Given the description of an element on the screen output the (x, y) to click on. 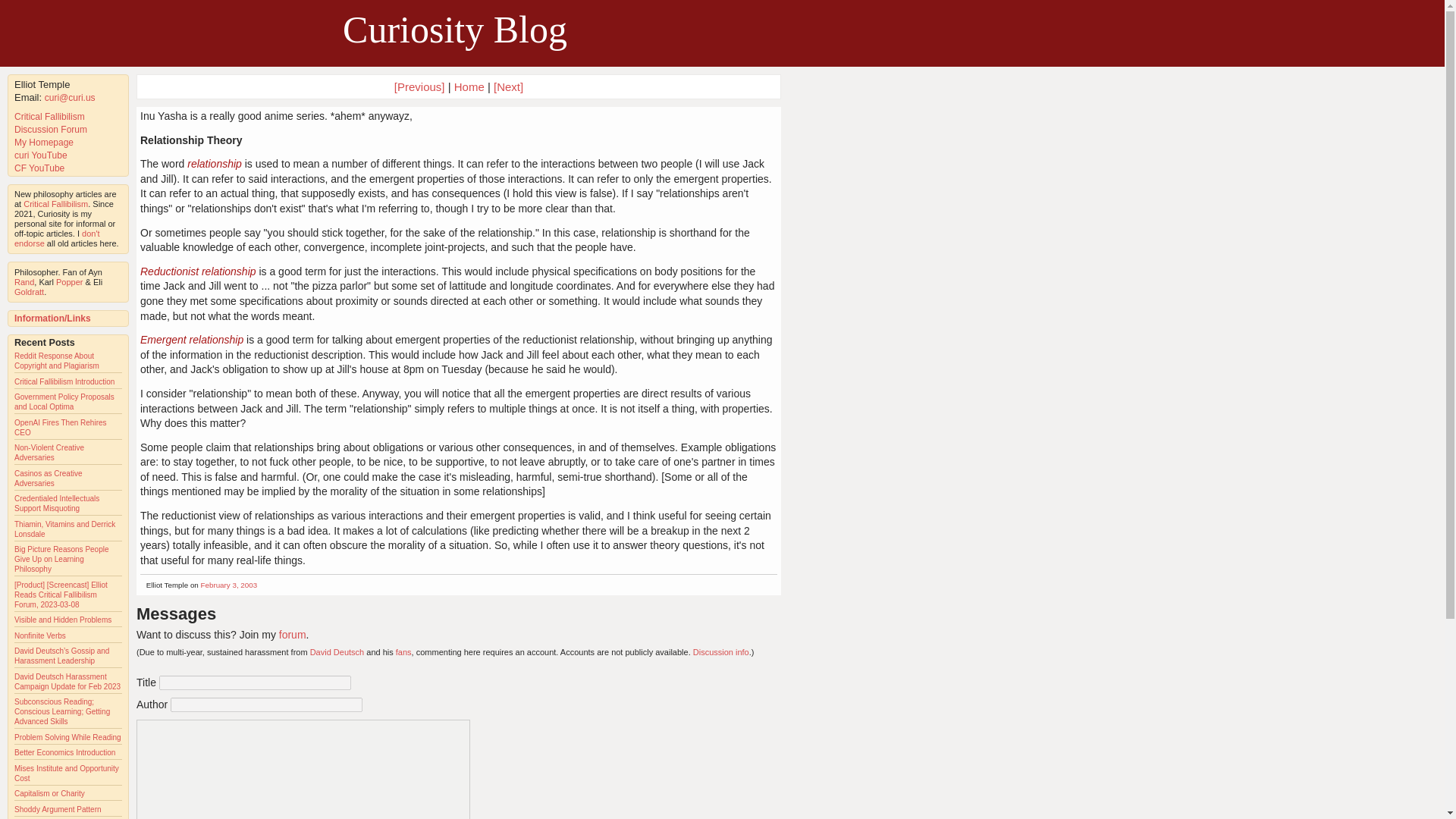
Discussion Forum (50, 129)
Government Policy Proposals and Local Optima (64, 402)
Better Economics Introduction (64, 752)
Thiamin, Vitamins and Derrick Lonsdale (64, 529)
Big Picture Reasons People Give Up on Learning Philosophy (61, 559)
Popper (69, 281)
Credentialed Intellectuals Support Misquoting (56, 503)
Visible and Hidden Problems (63, 619)
Nonfinite Verbs (39, 635)
David Deutsch Harassment Campaign Update for Feb 2023 (67, 681)
Reddit Response About Copyright and Plagiarism (56, 361)
Casinos as Creative Adversaries (47, 478)
Rand (23, 281)
curi YouTube (40, 154)
Shoddy Argument Pattern (57, 809)
